Given the description of an element on the screen output the (x, y) to click on. 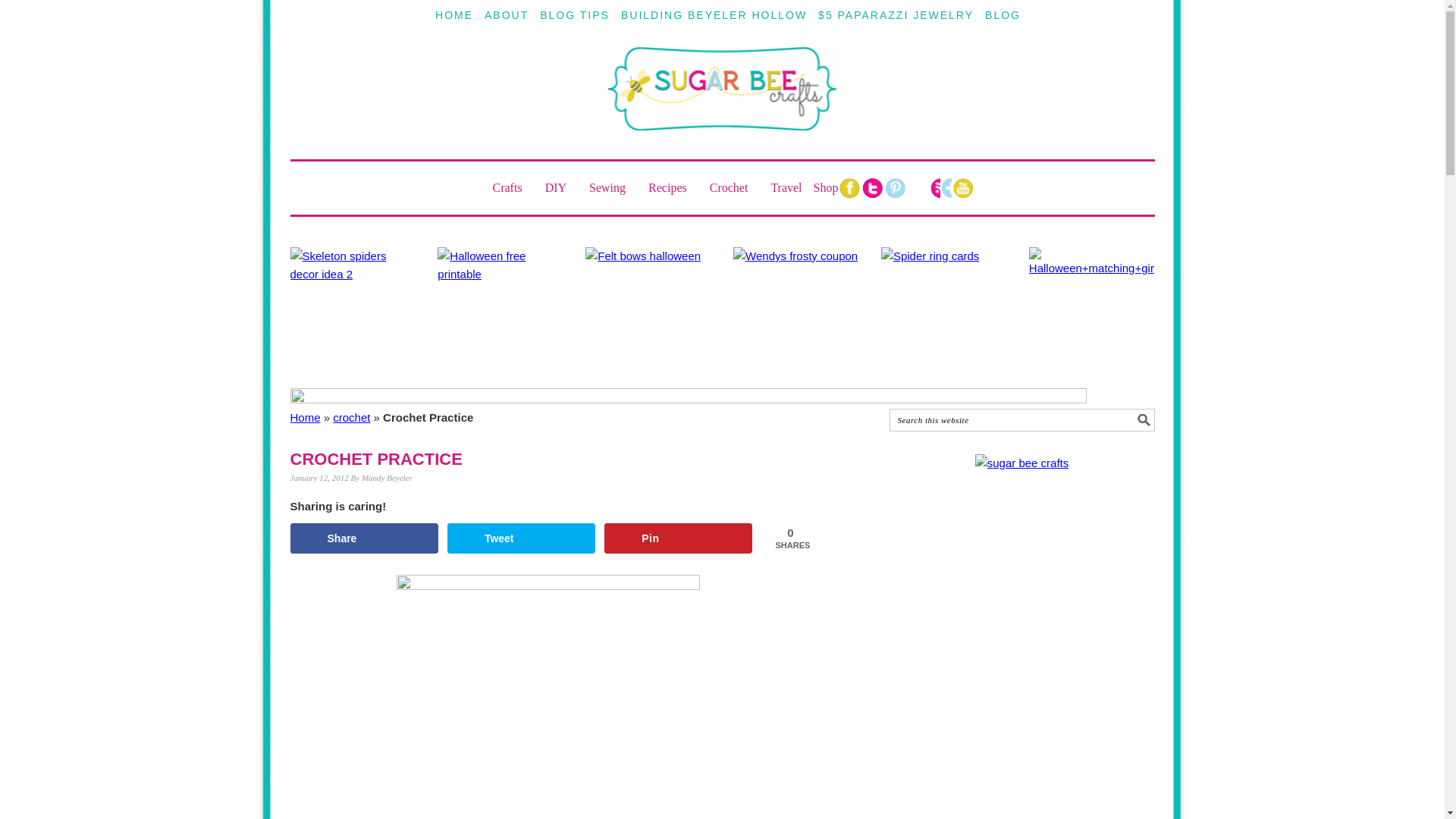
BLOG (1003, 15)
ABOUT (506, 15)
Recipes (673, 187)
Crochet (734, 187)
BUILDING BEYELER HOLLOW (714, 15)
Easy Halloween Felt Bows (648, 310)
Save to Pinterest (678, 538)
Crafts (512, 187)
Share on Twitter (520, 538)
HOME (453, 15)
Shop (826, 187)
Share on Facebook (363, 538)
Sewing (612, 187)
